Given the description of an element on the screen output the (x, y) to click on. 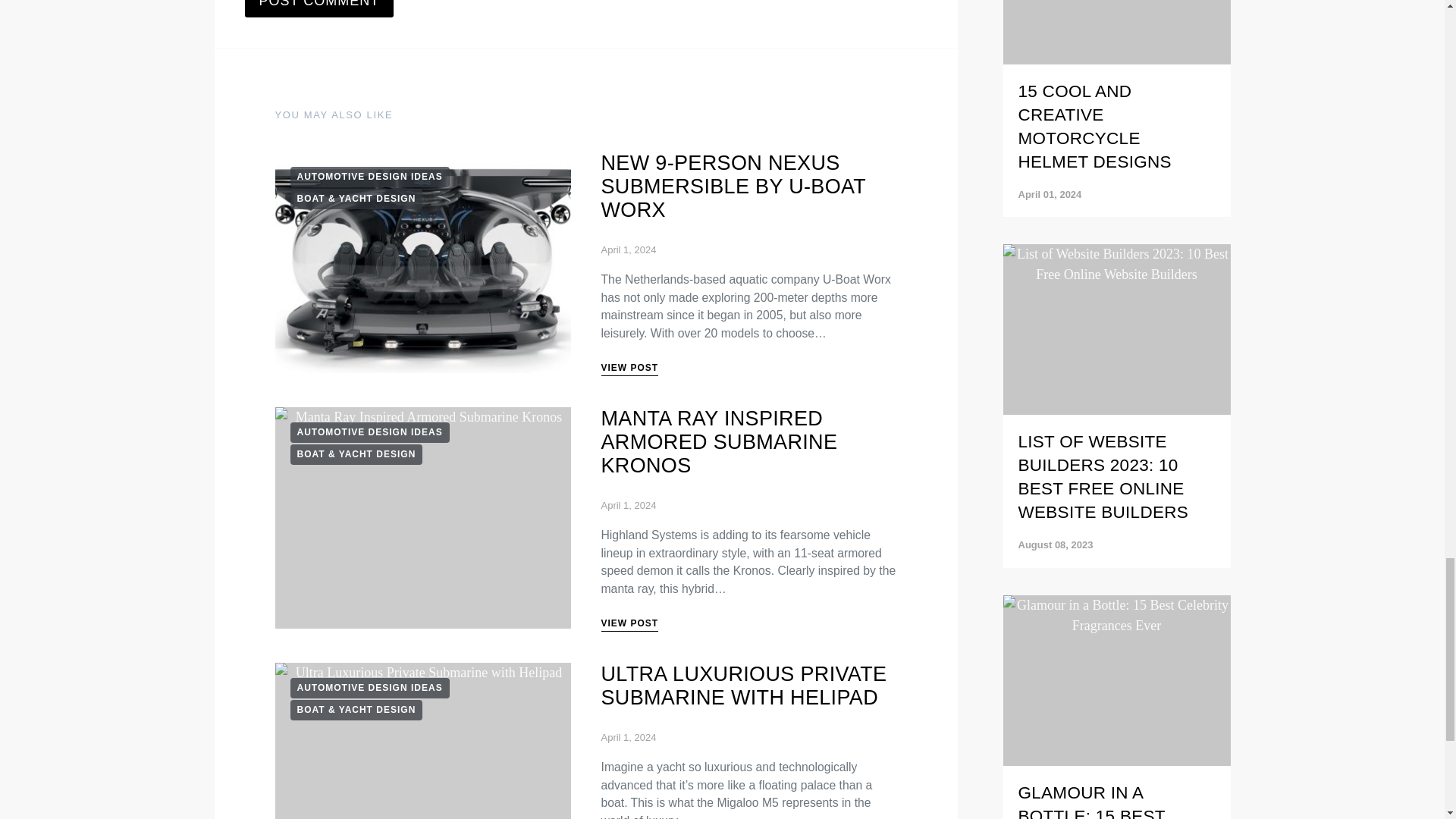
AUTOMOTIVE DESIGN IDEAS (368, 688)
AUTOMOTIVE DESIGN IDEAS (368, 432)
Ultra Luxurious Private Submarine with Helipad (422, 740)
New 9-Person NEXUS Submersible by U-Boat Worx (422, 262)
VIEW POST (628, 368)
MANTA RAY INSPIRED ARMORED SUBMARINE KRONOS (718, 441)
Post Comment (318, 9)
AUTOMOTIVE DESIGN IDEAS (368, 177)
Manta Ray Inspired Armored Submarine Kronos (422, 518)
VIEW POST (628, 624)
ULTRA LUXURIOUS PRIVATE SUBMARINE WITH HELIPAD (742, 685)
Post Comment (318, 9)
NEW 9-PERSON NEXUS SUBMERSIBLE BY U-BOAT WORX (731, 186)
